Given the description of an element on the screen output the (x, y) to click on. 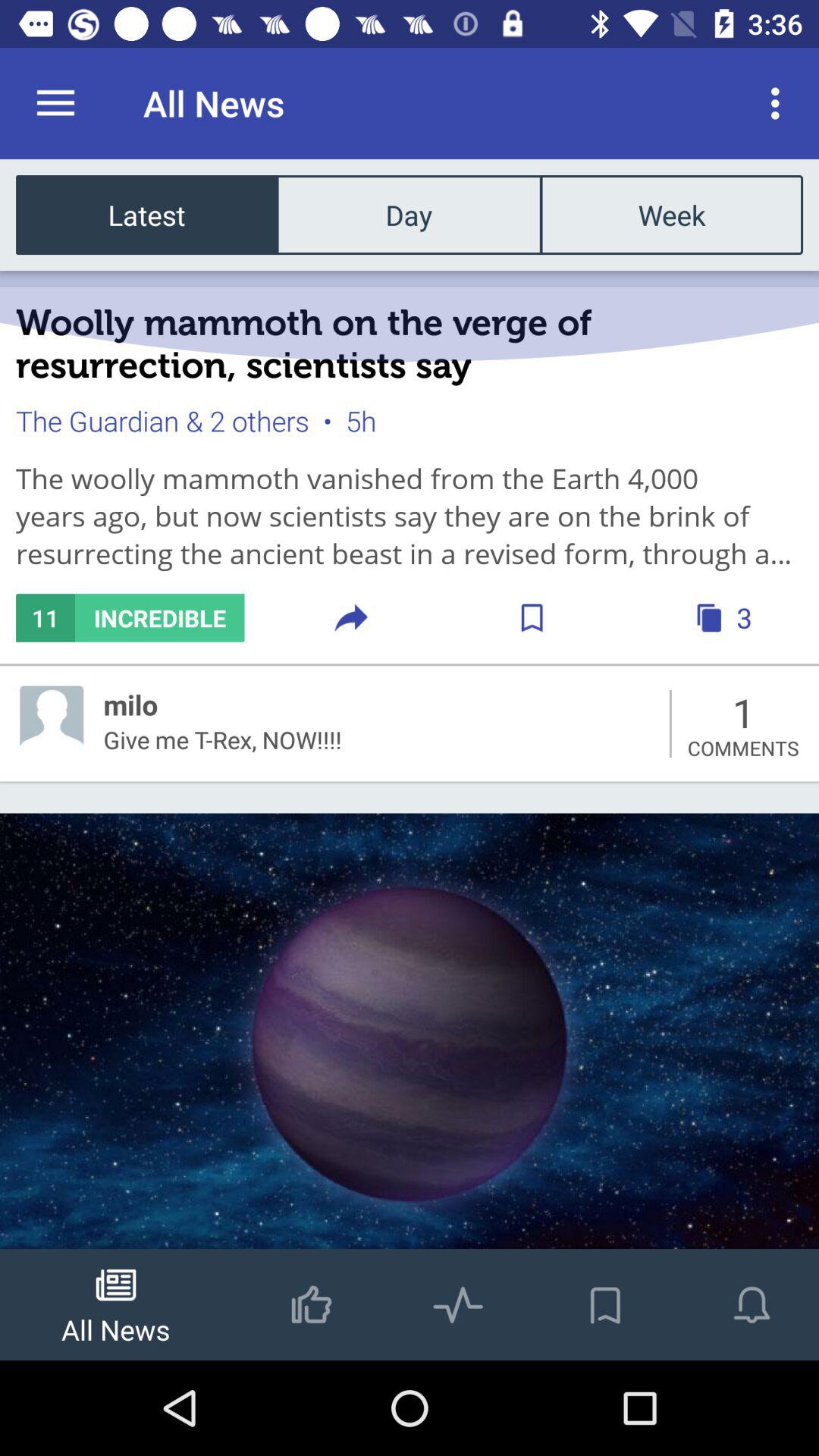
turn off the item to the right of the day (671, 214)
